Given the description of an element on the screen output the (x, y) to click on. 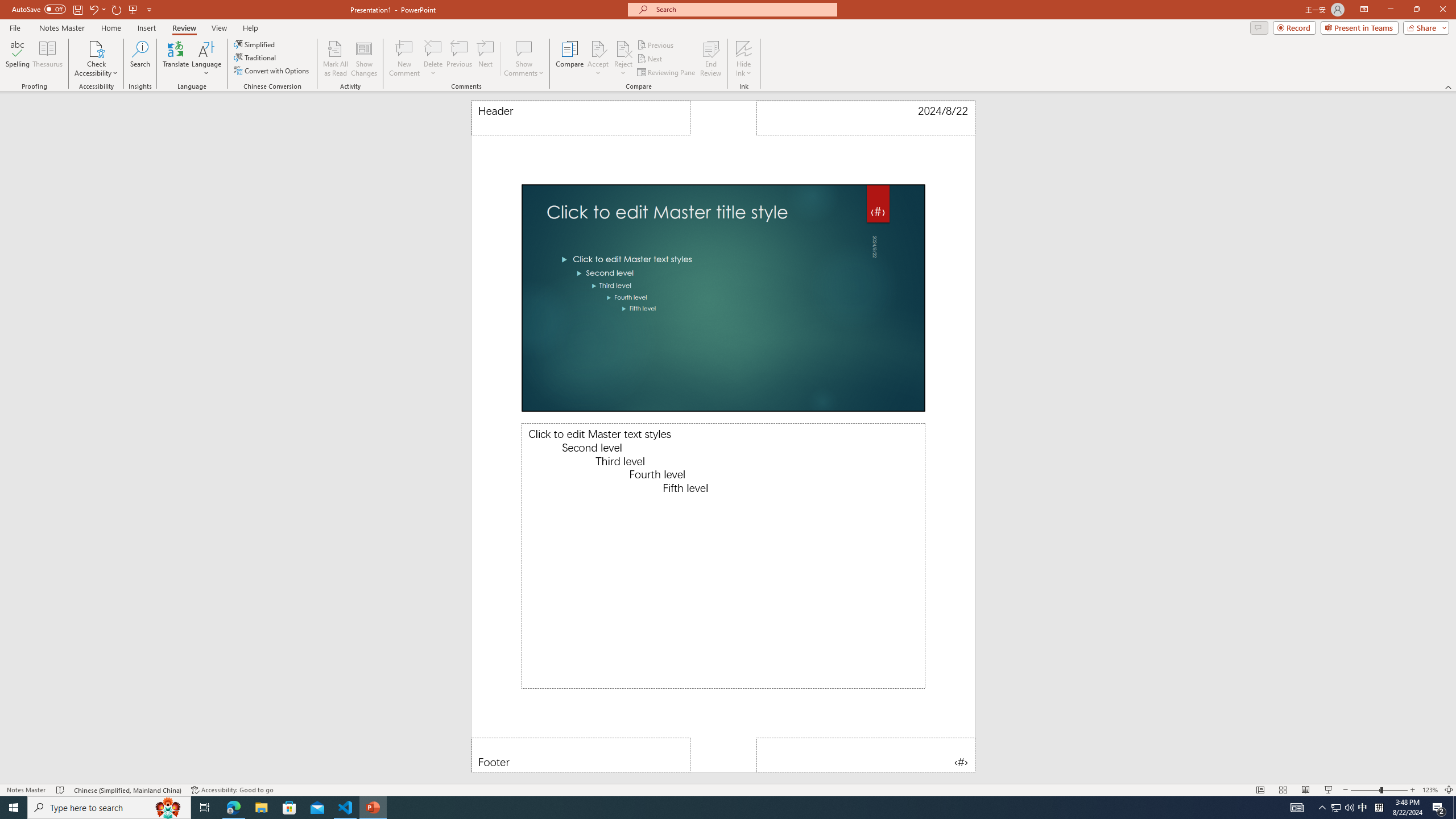
Show Changes (363, 58)
Date (866, 117)
Thesaurus... (47, 58)
Mark All as Read (335, 58)
Accept Change (598, 48)
Compare (569, 58)
Accept (598, 58)
